Given the description of an element on the screen output the (x, y) to click on. 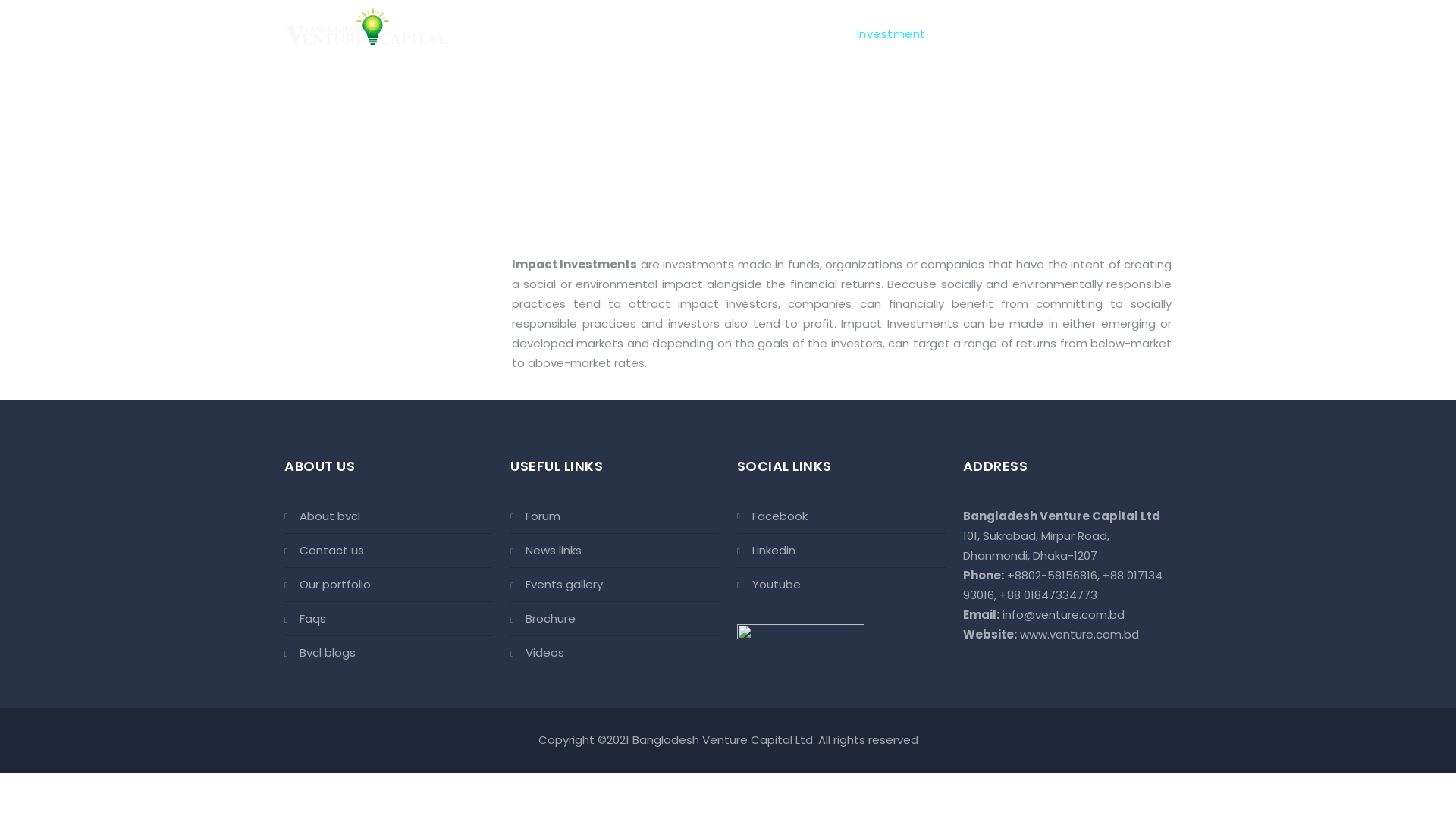
BVCL Element type: hover (366, 26)
brochure Element type: text (614, 618)
our portfolio Element type: text (388, 584)
Portfolios Element type: text (1034, 34)
bvcl blogs Element type: text (388, 652)
linkedin Element type: text (841, 550)
More Element type: text (1146, 34)
videos Element type: text (614, 652)
events gallery Element type: text (614, 584)
news links Element type: text (614, 550)
contact us Element type: text (388, 550)
Media Element type: text (1097, 34)
Home Element type: text (753, 34)
www.venture.com.bd Element type: text (1079, 634)
Services Element type: text (965, 34)
faqs Element type: text (388, 618)
forum Element type: text (614, 520)
youtube Element type: text (841, 584)
Home Element type: text (675, 168)
Investment Element type: text (891, 34)
BVCL Element type: hover (366, 26)
info@venture.com.bd Element type: text (1063, 614)
facebook Element type: text (841, 520)
about bvcl Element type: text (388, 520)
